Given the description of an element on the screen output the (x, y) to click on. 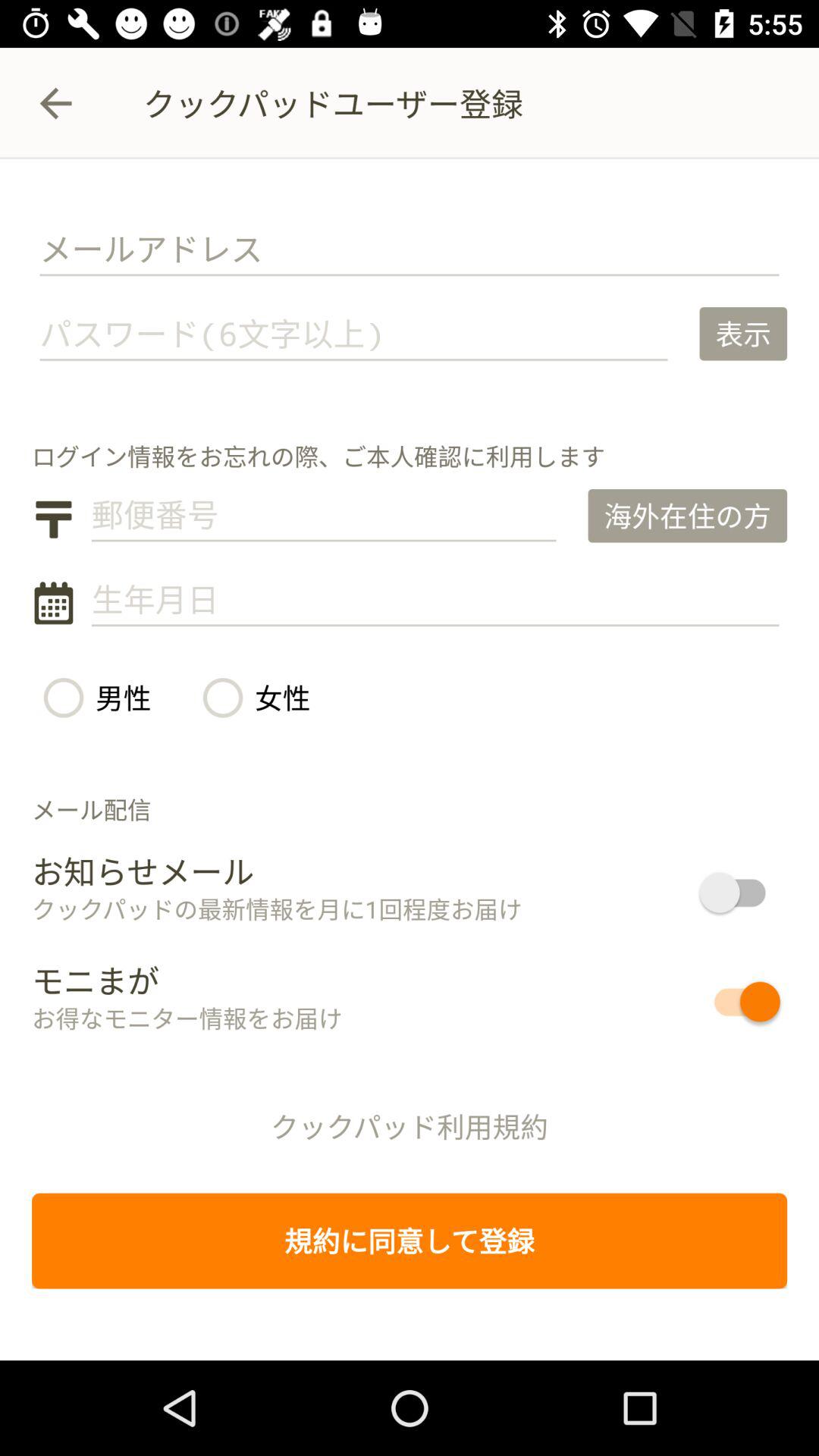
choose icon at the bottom right corner (692, 1001)
